Given the description of an element on the screen output the (x, y) to click on. 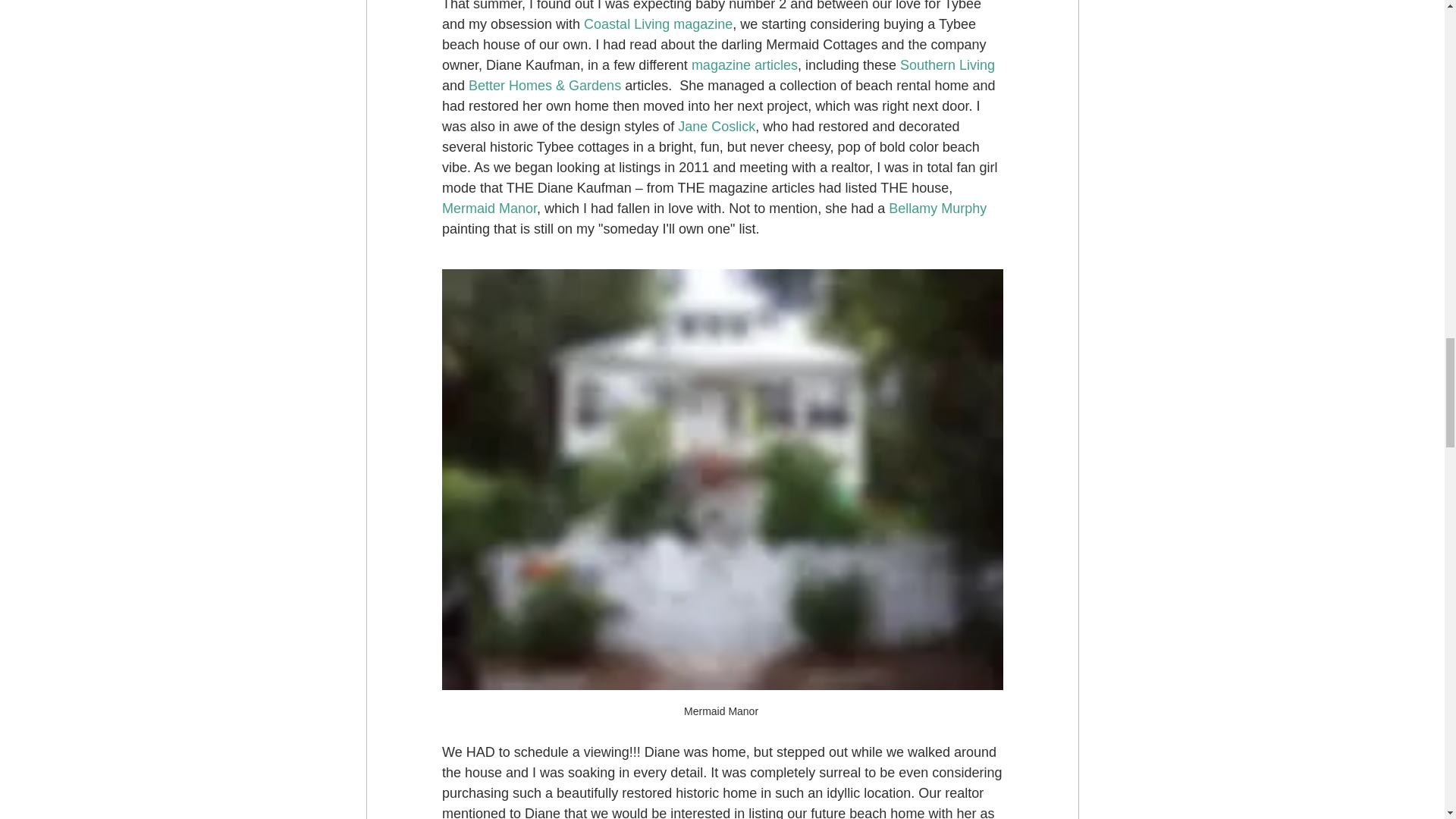
Mermaid Manor (488, 208)
Jane Coslick (716, 126)
magazine articles (743, 64)
Southern Living (946, 64)
Coastal Living magazine (657, 23)
Bellamy Murphy (937, 208)
